Given the description of an element on the screen output the (x, y) to click on. 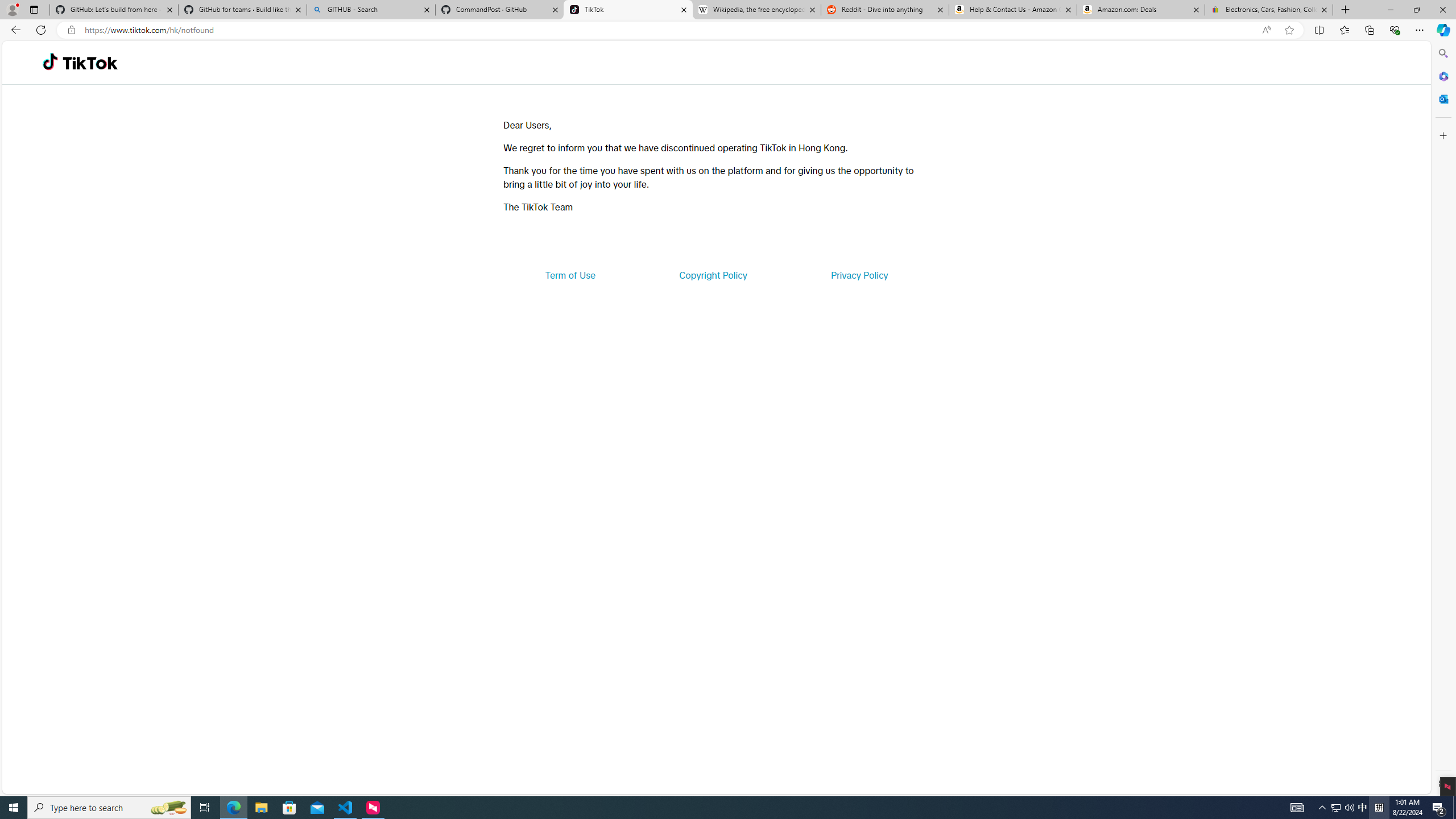
Help & Contact Us - Amazon Customer Service (1012, 9)
TikTok (628, 9)
Term of Use (569, 274)
Copyright Policy (712, 274)
